Given the description of an element on the screen output the (x, y) to click on. 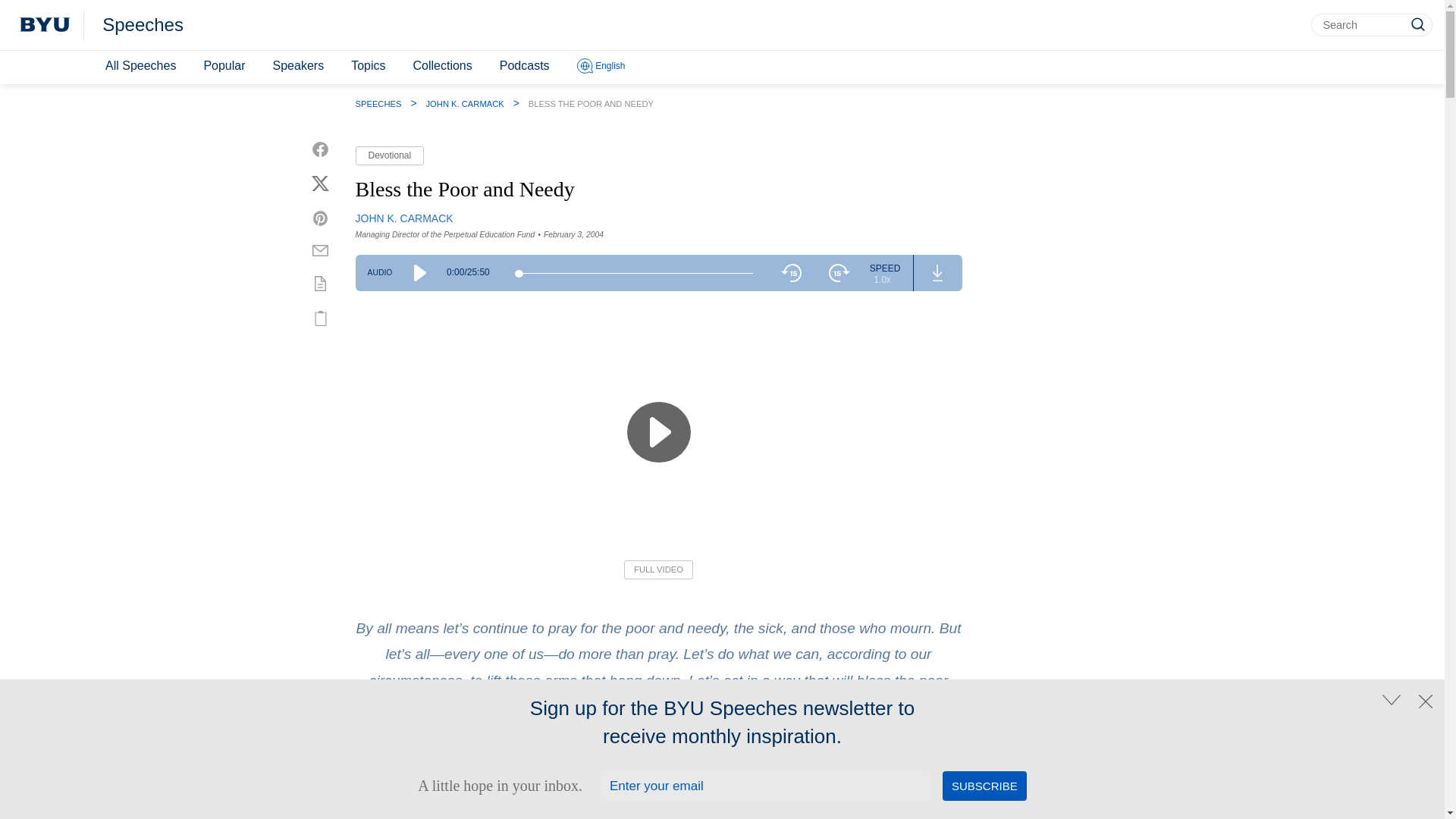
Speeches (142, 25)
JOHN K. CARMACK (403, 218)
JOHN K. CARMACK (464, 103)
English (600, 67)
Subscribe (984, 785)
Topics (368, 65)
Collections (441, 65)
SPEECHES (378, 103)
All Speeches (140, 65)
Popular (223, 65)
